Given the description of an element on the screen output the (x, y) to click on. 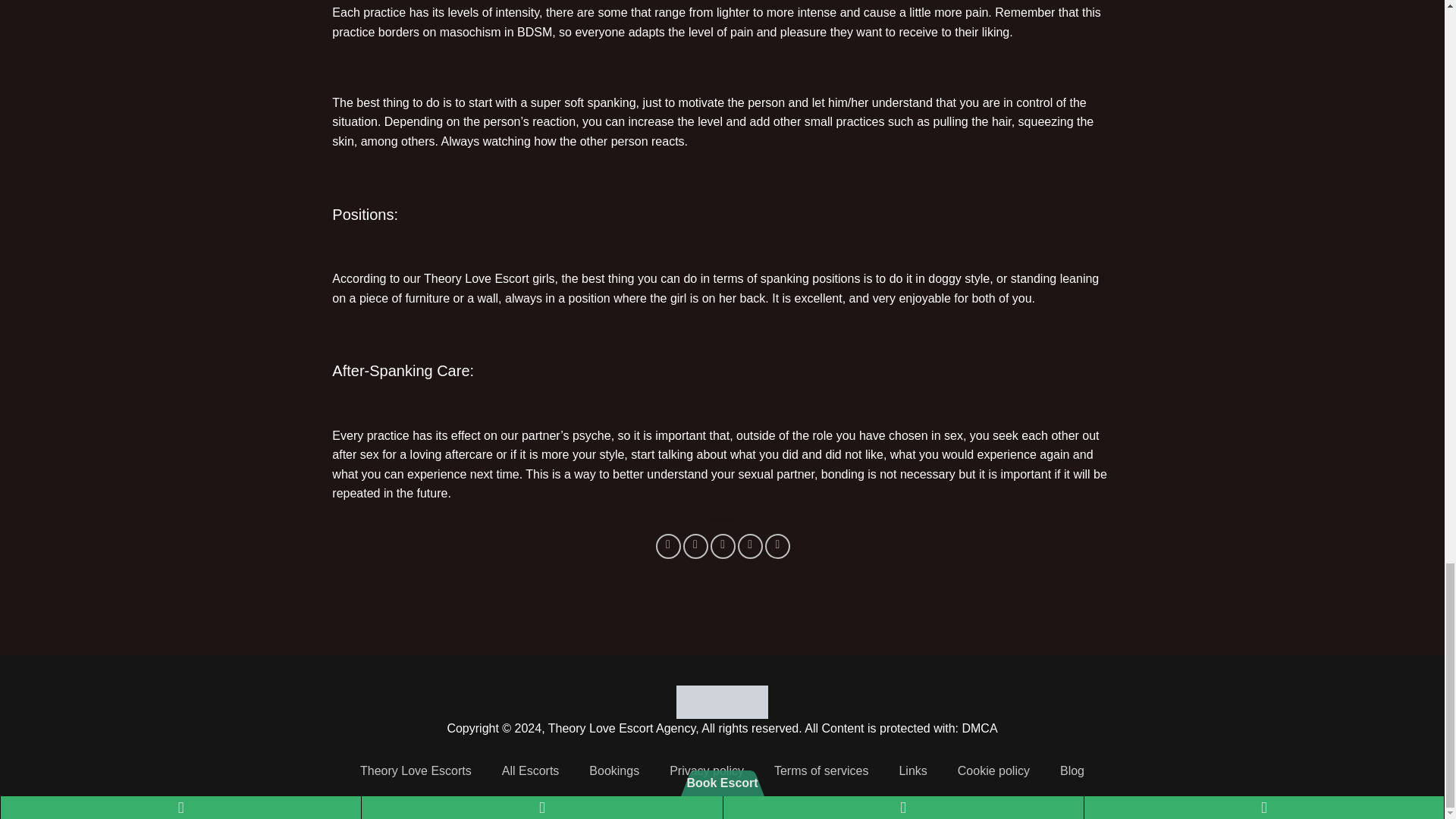
Share on LinkedIn (777, 545)
Pin on Pinterest (750, 545)
Share on Twitter (694, 545)
DMCA.com Protection Status (722, 700)
Email to a Friend (722, 545)
Share on Facebook (668, 545)
